Given the description of an element on the screen output the (x, y) to click on. 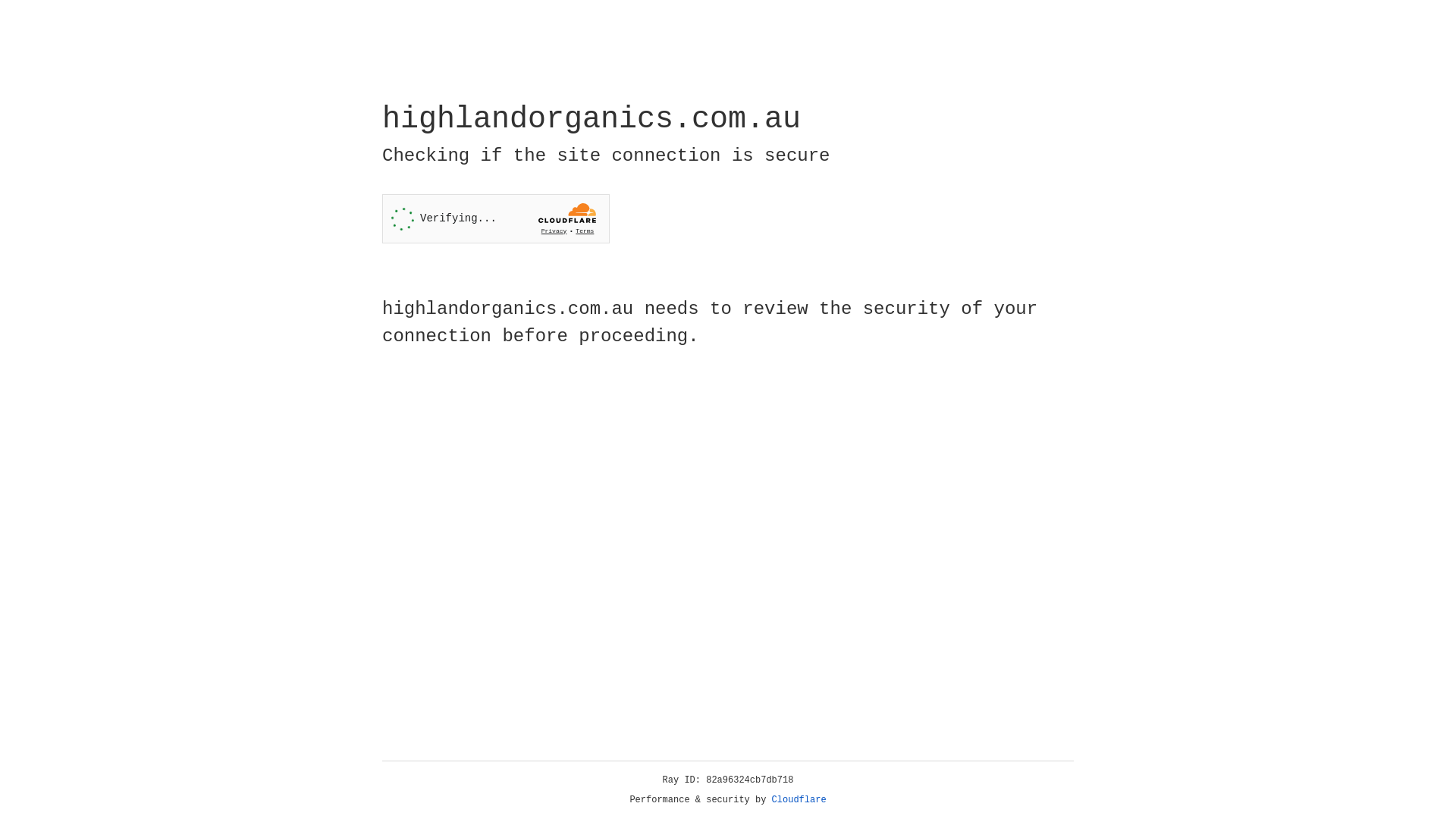
Cloudflare Element type: text (798, 799)
Widget containing a Cloudflare security challenge Element type: hover (495, 218)
